Given the description of an element on the screen output the (x, y) to click on. 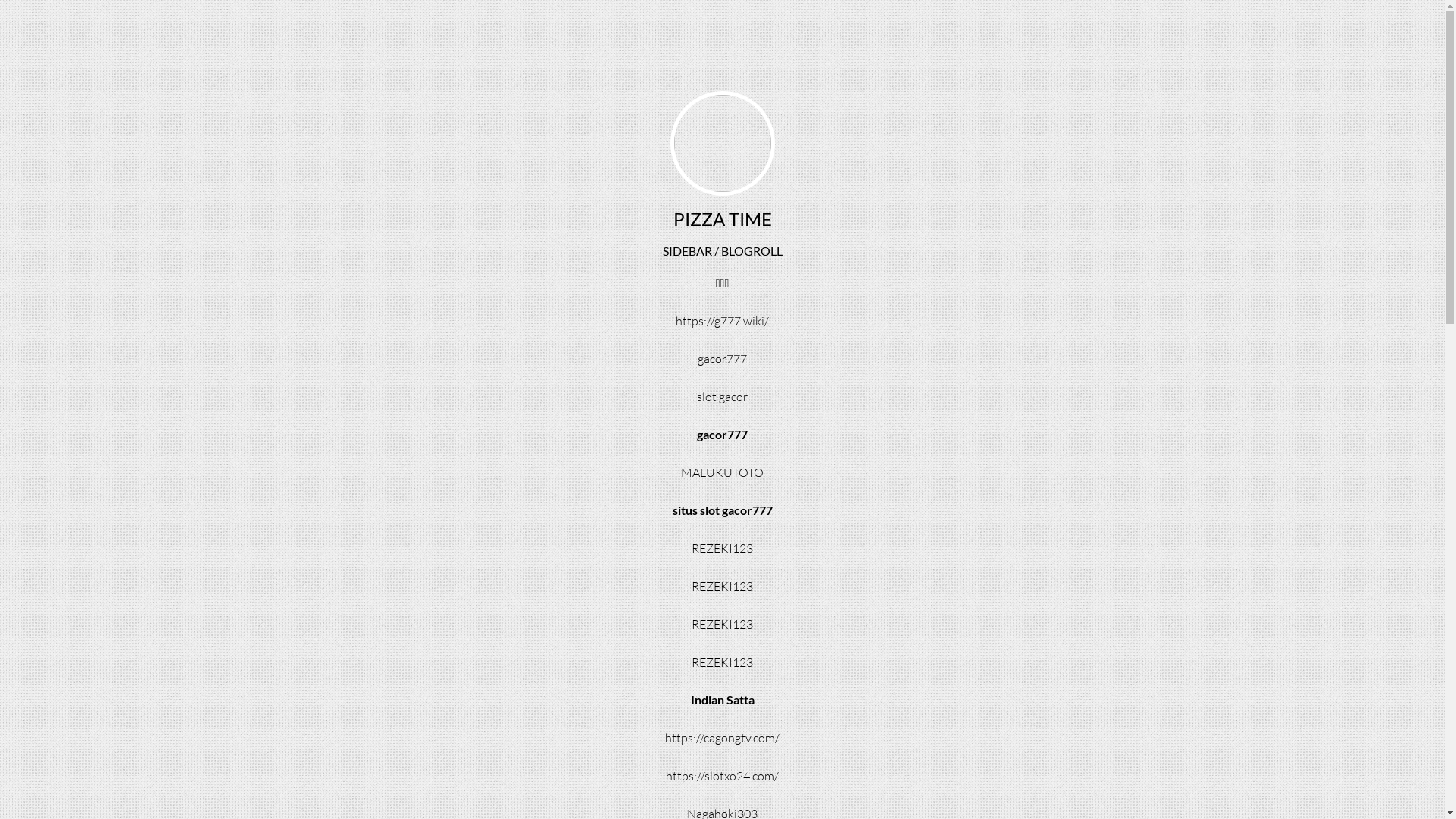
MALUKUTOTO Element type: text (721, 472)
https://cagongtv.com/ Element type: text (722, 737)
REZEKI123 Element type: text (722, 585)
gacor777 Element type: text (721, 358)
REZEKI123 Element type: text (722, 661)
situs slot gacor777 Element type: text (721, 509)
gacor777 Element type: text (721, 433)
REZEKI123 Element type: text (722, 547)
Indian Satta Element type: text (721, 699)
slot gacor Element type: text (721, 396)
https://g777.wiki/ Element type: text (721, 320)
https://slotxo24.com/ Element type: text (721, 775)
PIZZA TIME Element type: text (722, 218)
REZEKI123 Element type: text (722, 623)
